Given the description of an element on the screen output the (x, y) to click on. 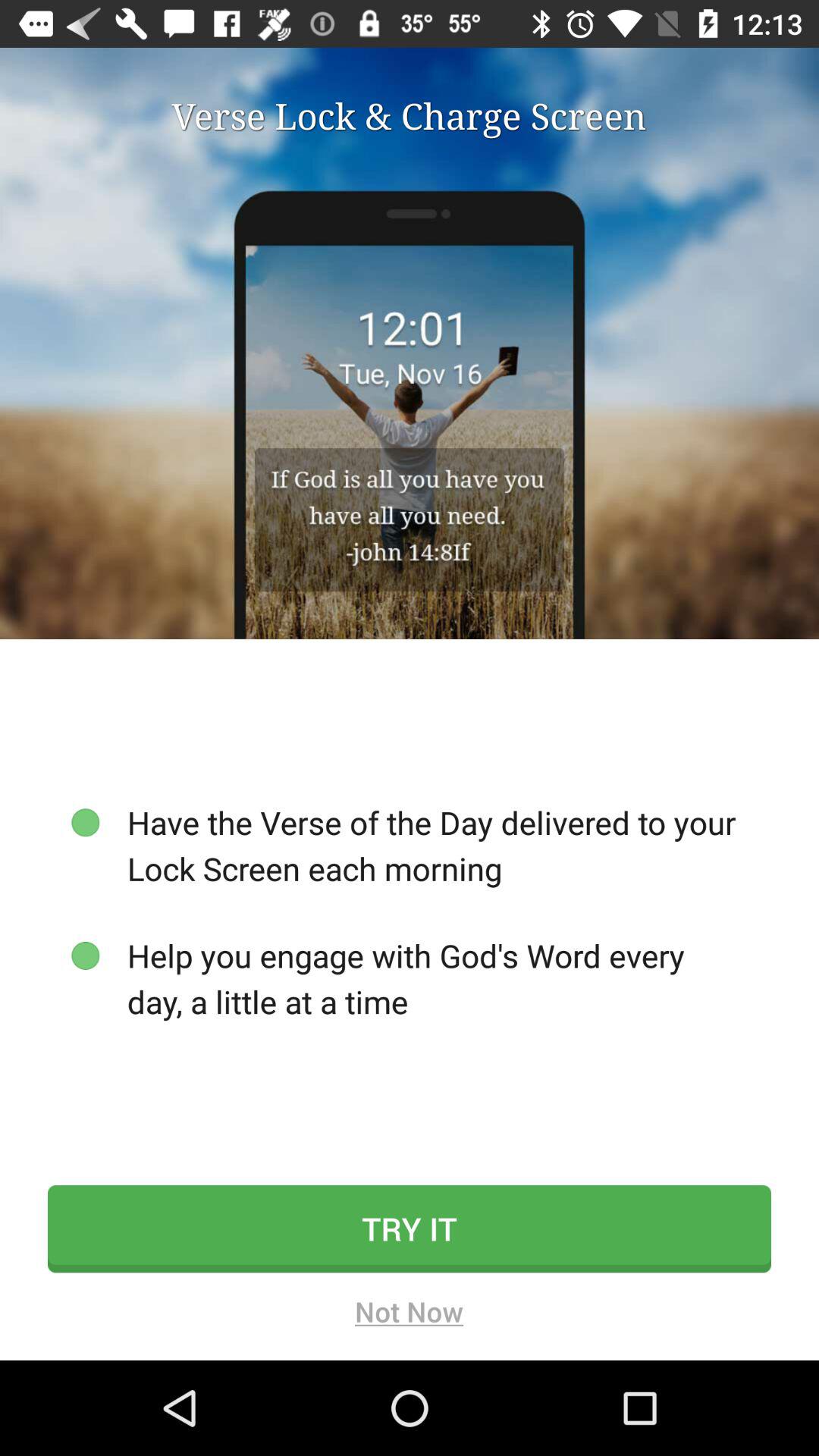
turn off the try it icon (409, 1228)
